Given the description of an element on the screen output the (x, y) to click on. 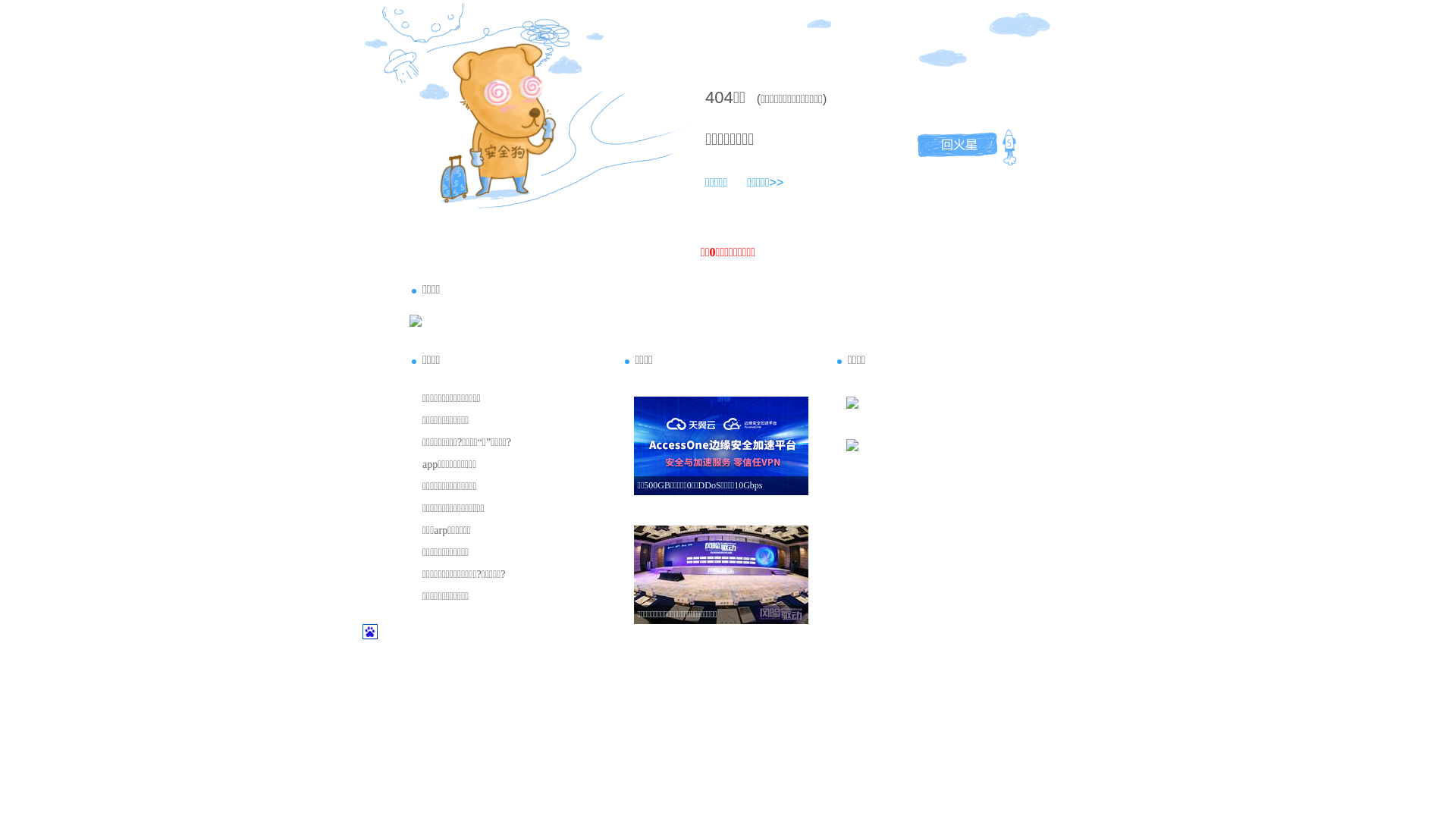
404 Element type: text (719, 96)
